Given the description of an element on the screen output the (x, y) to click on. 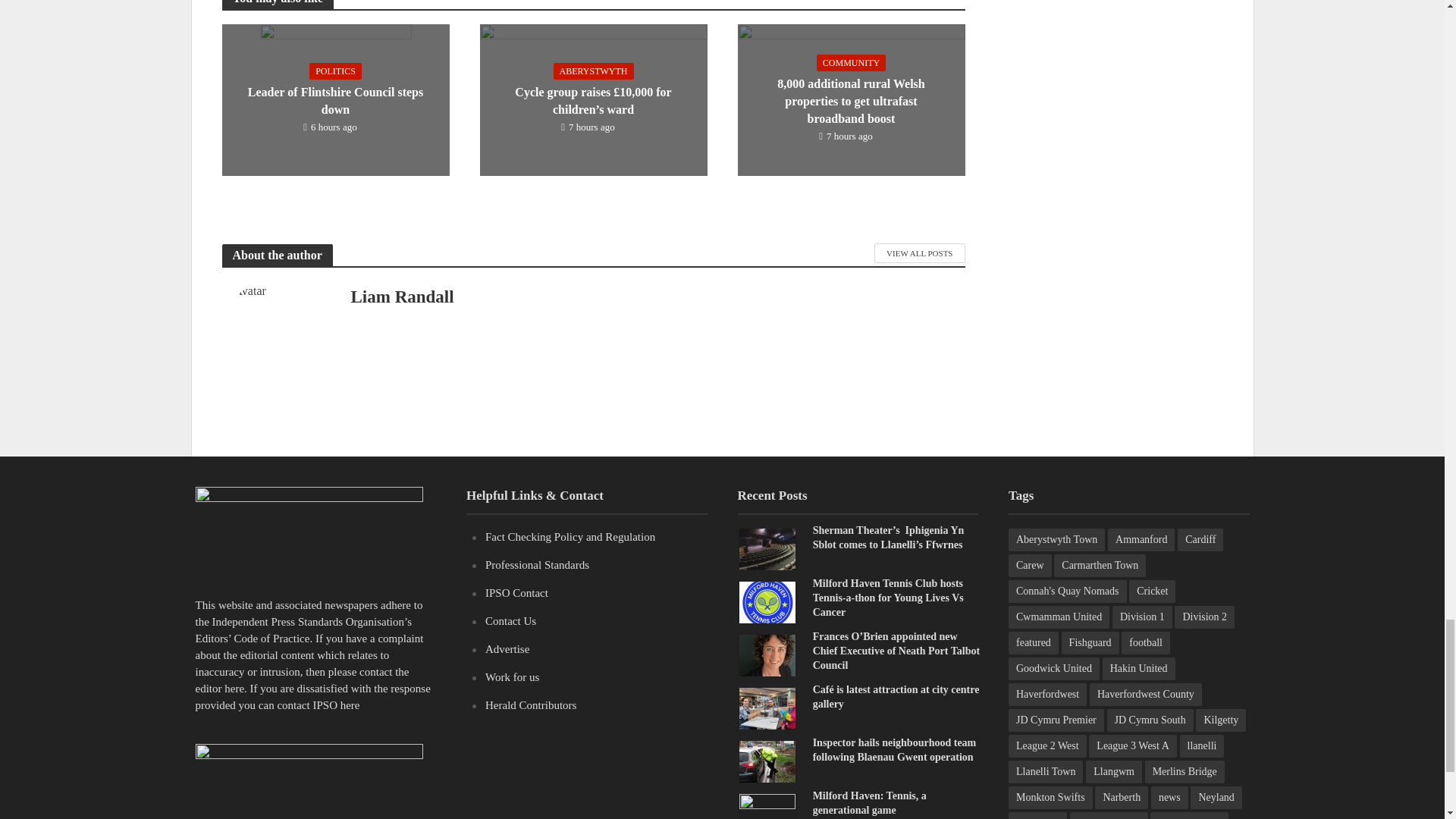
Leader of Flintshire Council steps down (334, 98)
